Given the description of an element on the screen output the (x, y) to click on. 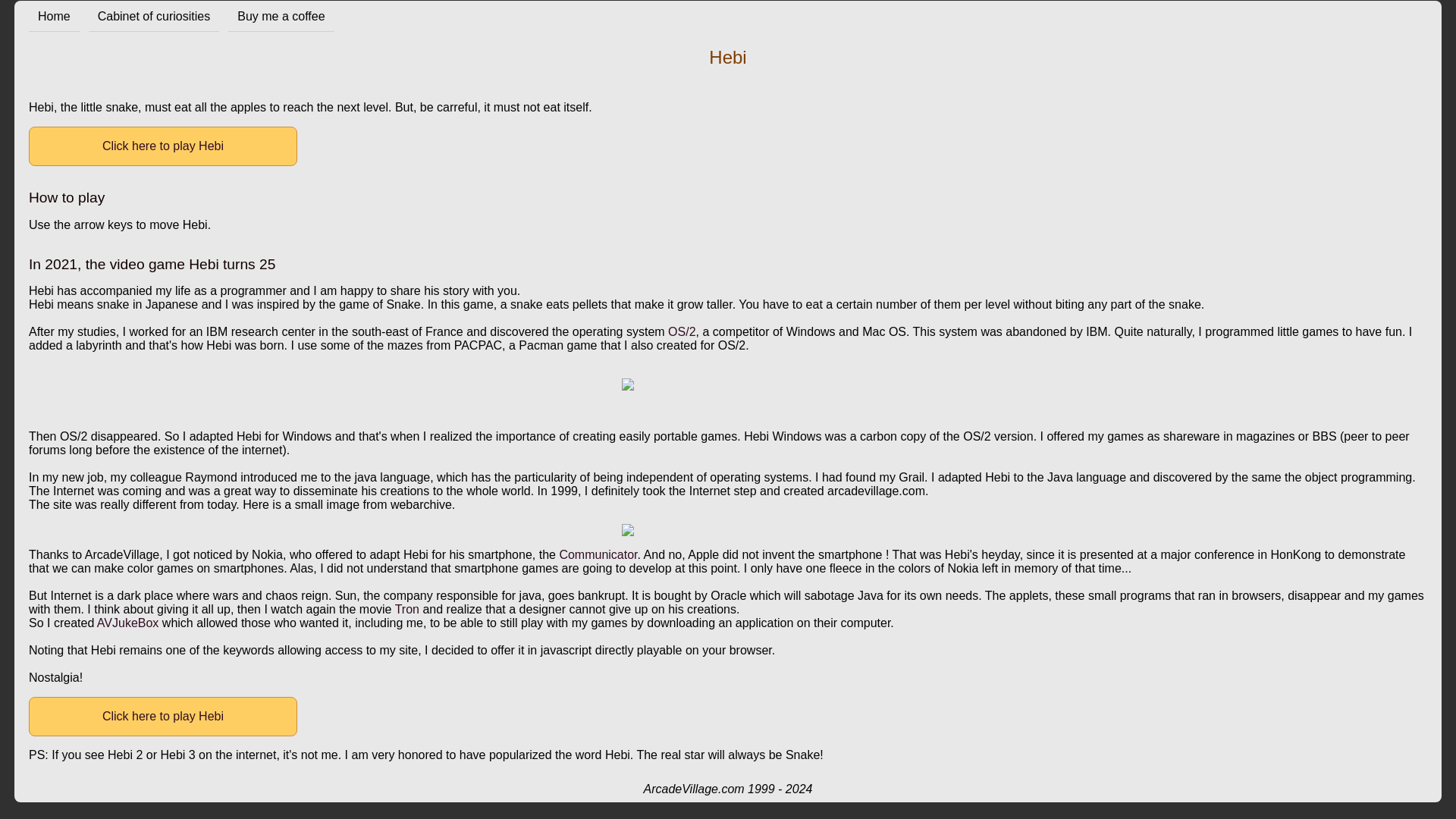
Buy me a coffee (280, 15)
Tron (408, 608)
Home (54, 15)
Click here to play Hebi (163, 146)
Click here to play Hebi (163, 716)
Communicator (598, 554)
Cabinet of curiosities (153, 15)
AVJukeBox (127, 622)
